Given the description of an element on the screen output the (x, y) to click on. 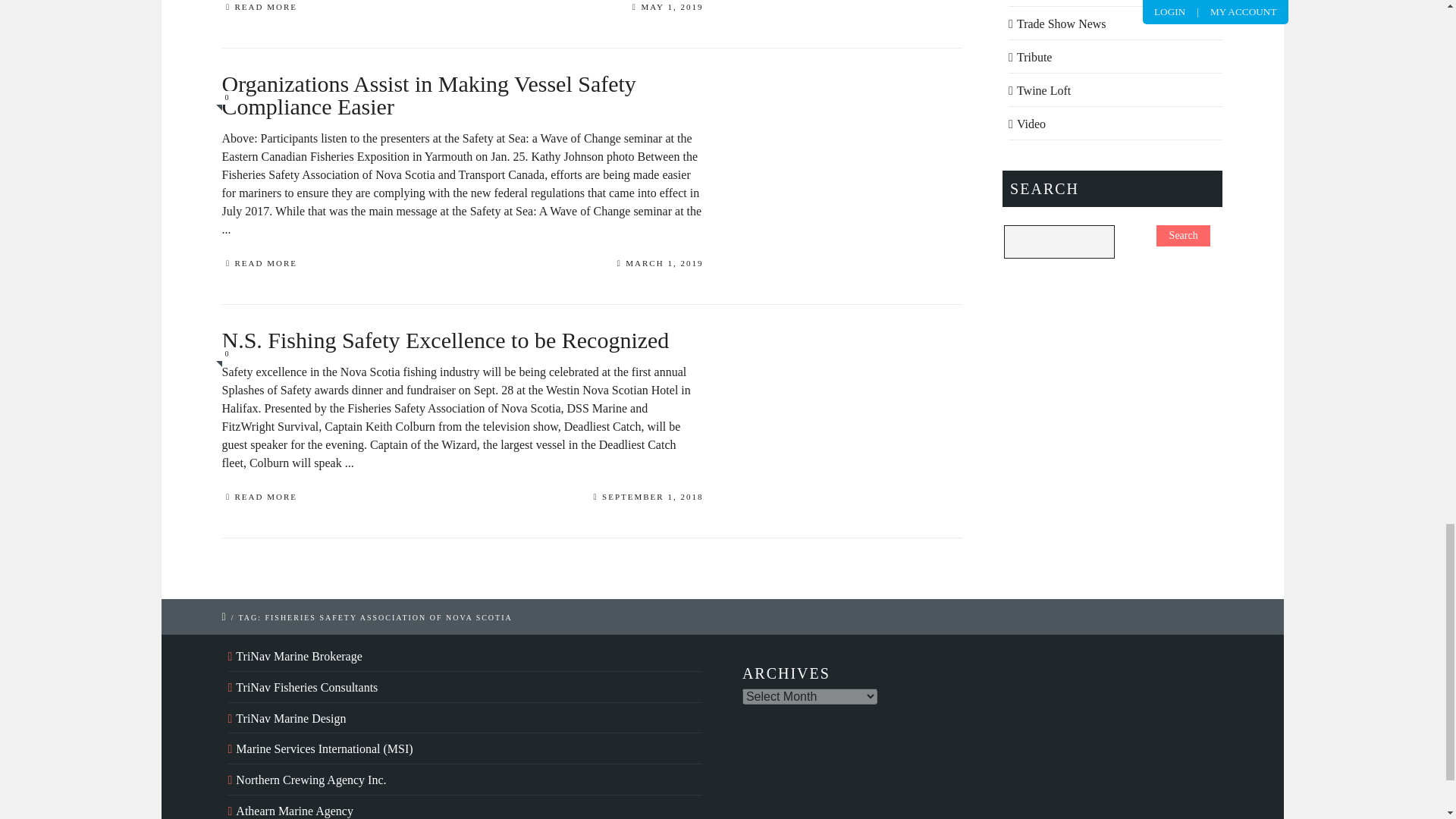
Search (1183, 235)
